Given the description of an element on the screen output the (x, y) to click on. 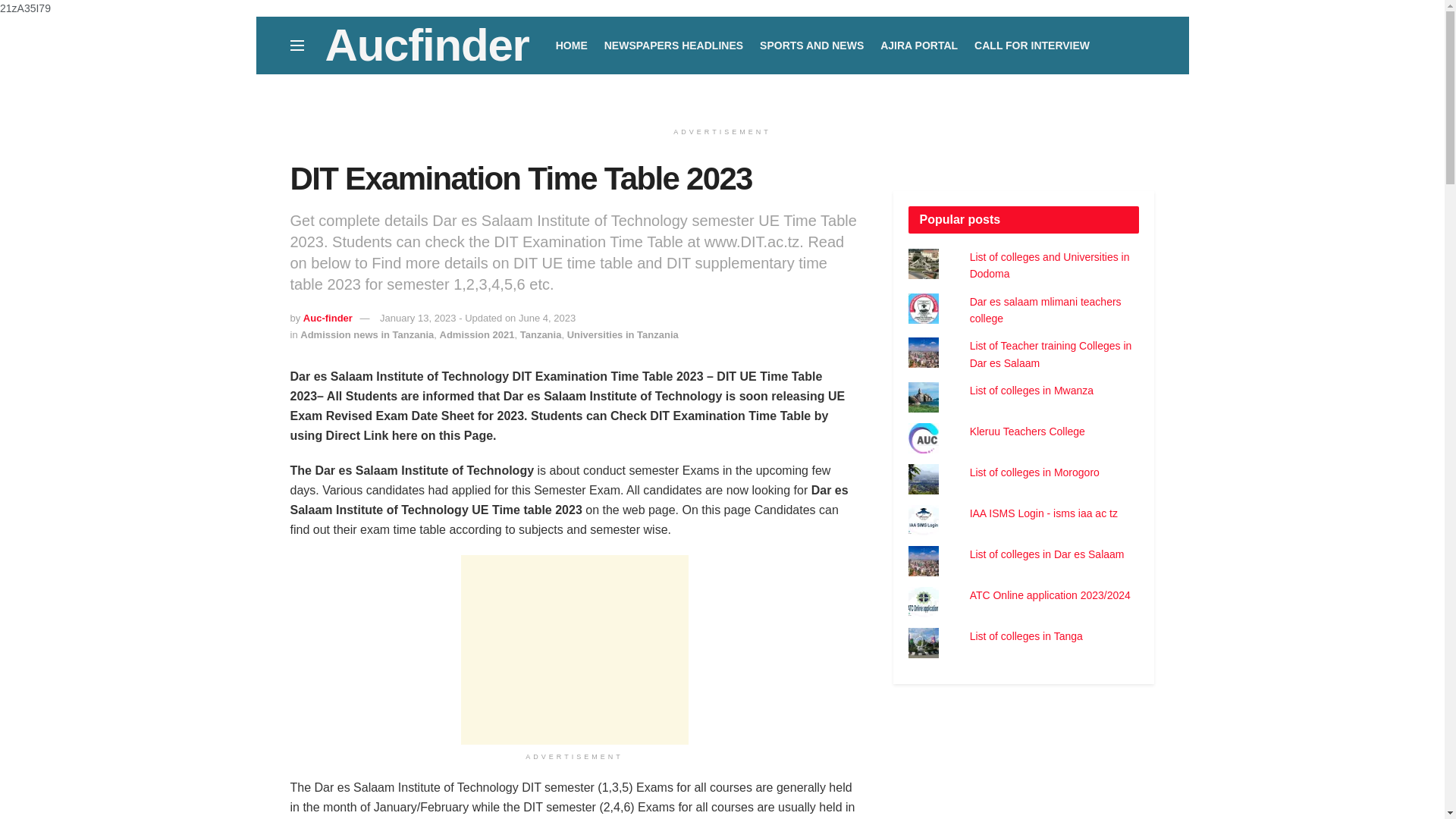
AJIRA PORTAL (919, 45)
HOME (572, 45)
Auc-finder (327, 317)
Dar es salaam mlimani teachers college (1045, 309)
Tanzania (540, 334)
Kleruu Teachers College (1026, 431)
SPORTS AND NEWS (811, 45)
NEWSPAPERS HEADLINES (673, 45)
January 13, 2023 - Updated on June 4, 2023 (477, 317)
List of Teacher training Colleges in Dar es Salaam (1050, 353)
